Given the description of an element on the screen output the (x, y) to click on. 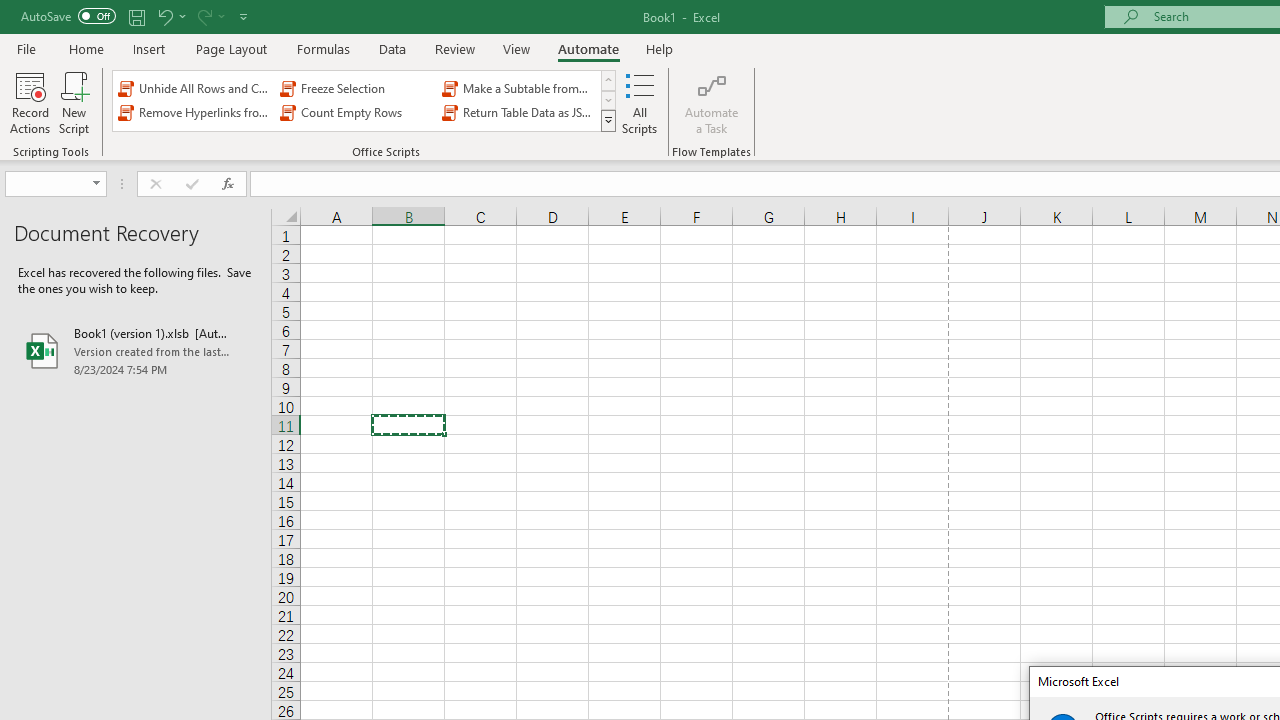
Freeze Selection (356, 88)
All Scripts (639, 102)
Count Empty Rows (356, 112)
